Given the description of an element on the screen output the (x, y) to click on. 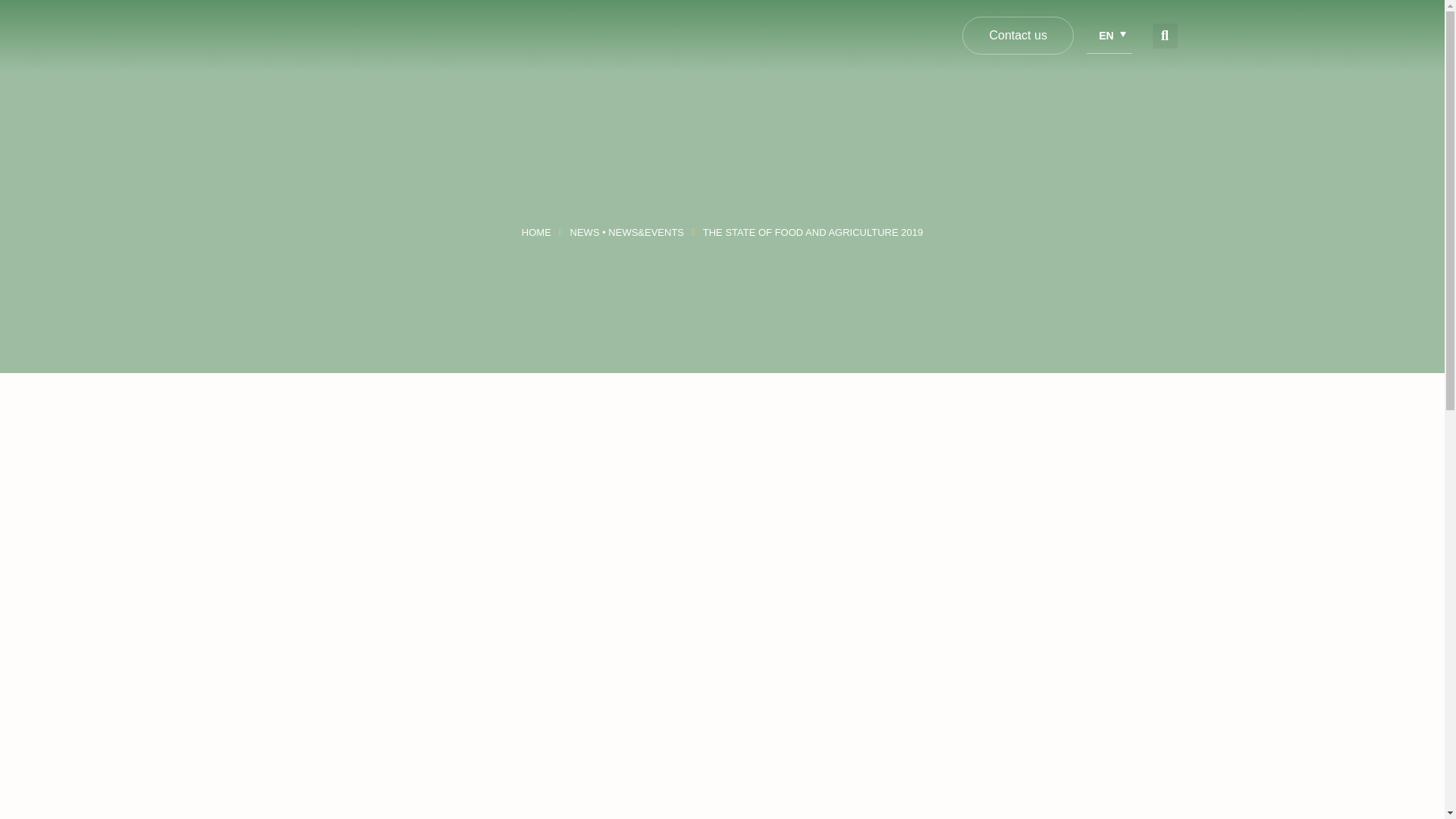
HOME (536, 232)
Contact us (1017, 35)
NEWS (584, 232)
Contact us (1017, 35)
EN (1114, 35)
EN (1109, 35)
